Given the description of an element on the screen output the (x, y) to click on. 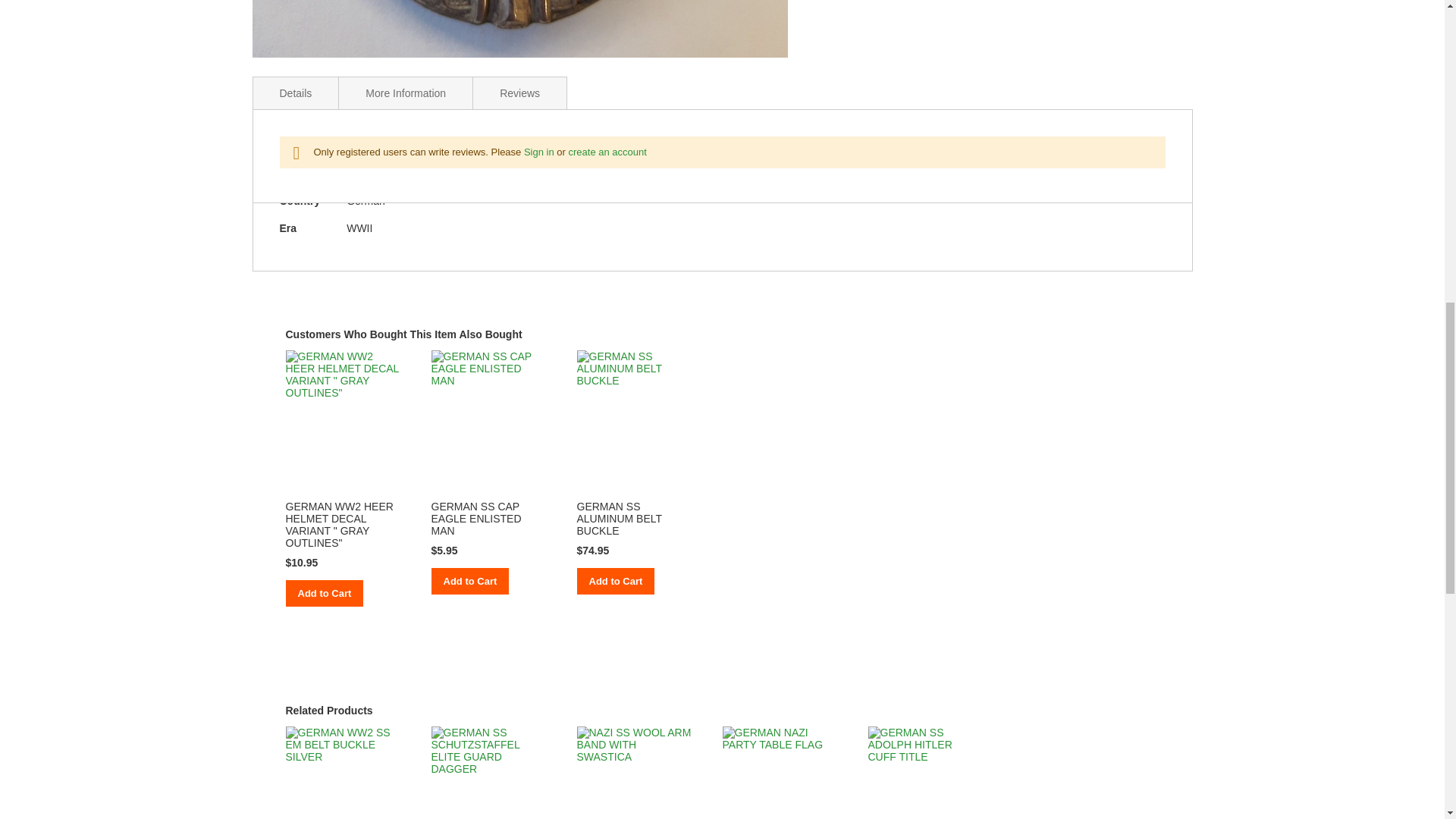
GERMAN WW2 HEER HELMET DECAL VARIANT " GRAY OUTLINES" (339, 524)
GERMAN SS CAP EAGLE ENLISTED MAN (475, 518)
Add to Cart (323, 592)
Add to Cart (469, 581)
GERMAN SS ALUMINUM BELT BUCKLE (618, 518)
Add to Cart (614, 581)
